Given the description of an element on the screen output the (x, y) to click on. 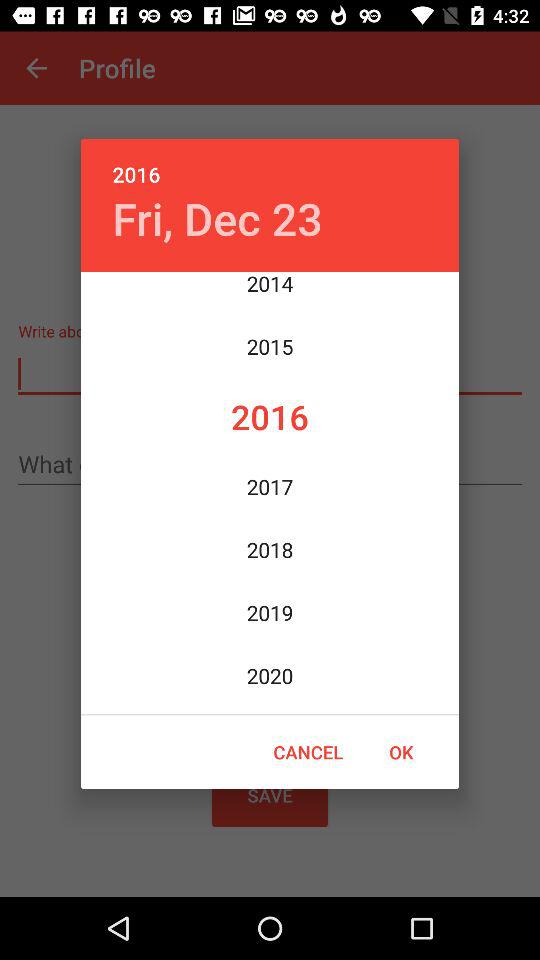
press icon below the 2021 item (401, 751)
